Given the description of an element on the screen output the (x, y) to click on. 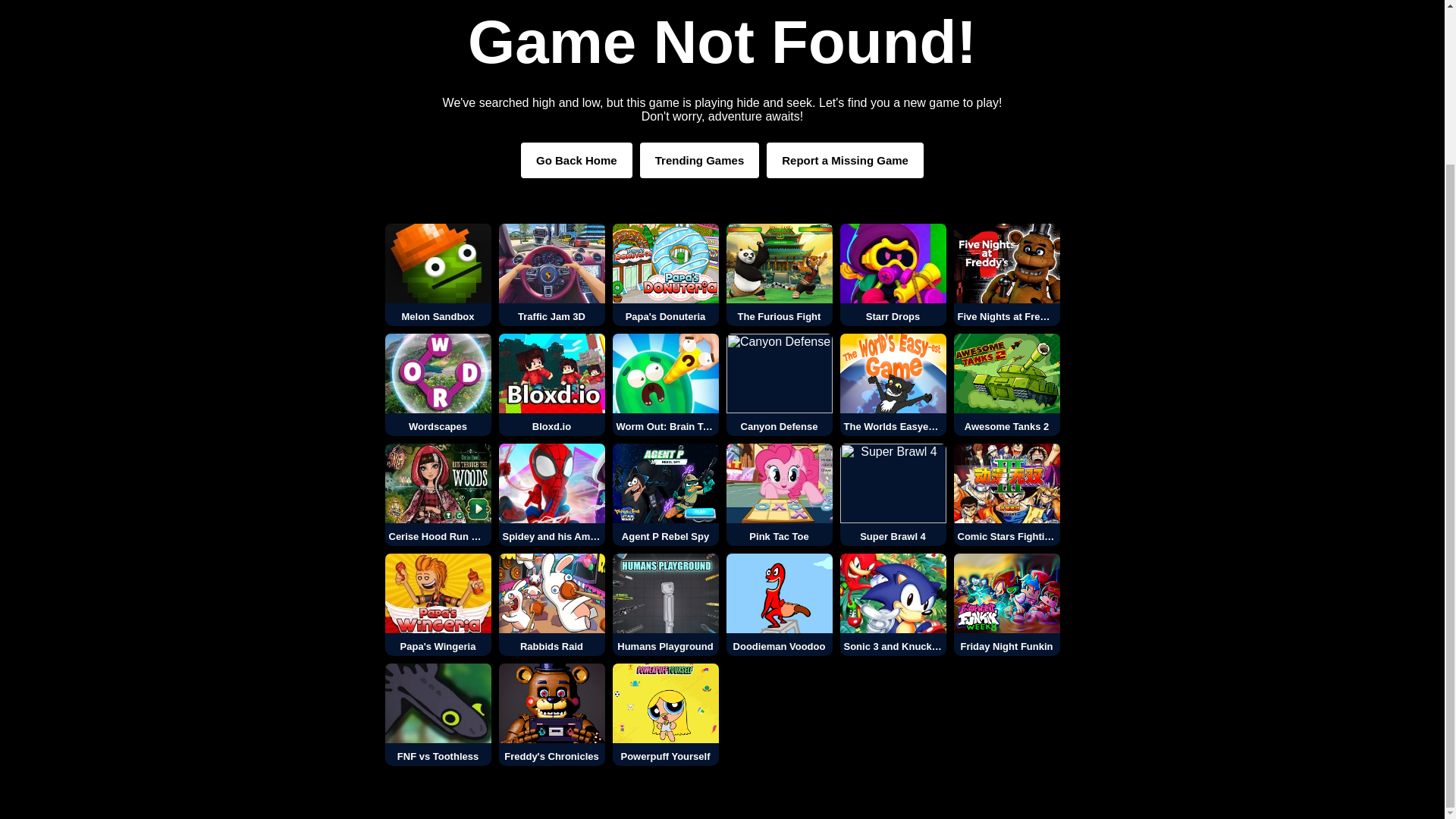
Melon Sandbox (438, 274)
Comic Stars Fighting 3.2 (1006, 494)
Humans Playground (665, 604)
Worm Out: Brain Teaser Games (665, 384)
The Worlds Easyest Game (893, 384)
Rabbids Raid (552, 604)
Sonic 3 and Knuckles (893, 604)
Papa's Wingeria (438, 604)
Freddy's Chronicles (552, 714)
Pink Tac Toe (779, 494)
FNF vs Toothless (438, 714)
The Furious Fight (779, 274)
Report a Missing Game (845, 160)
Doodieman Voodoo (779, 604)
Agent P Rebel Spy (665, 494)
